Given the description of an element on the screen output the (x, y) to click on. 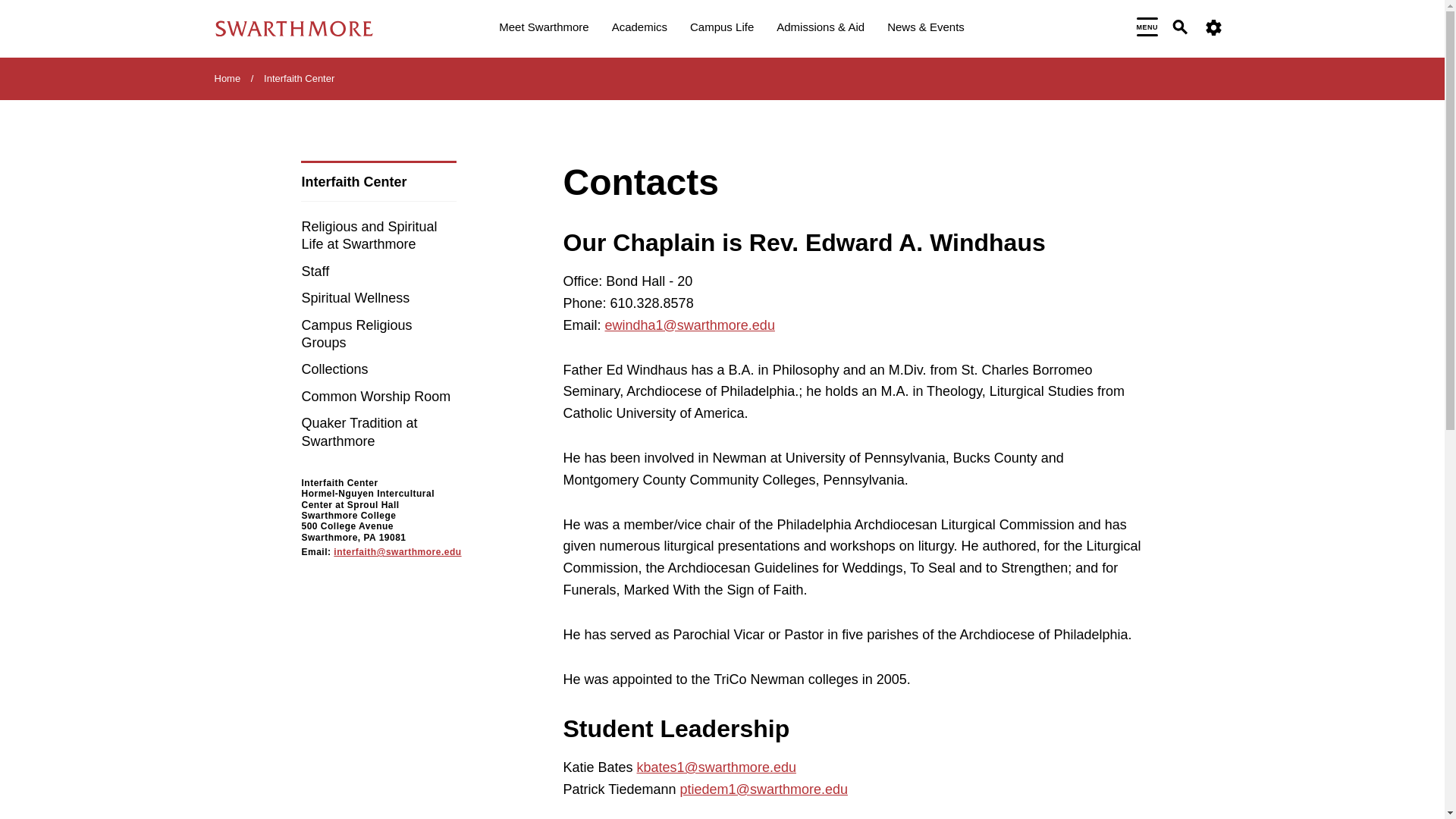
Meet Swarthmore (543, 28)
Opens Email Program (763, 789)
Opens Email Program (716, 767)
Academics (638, 28)
Campus Life (722, 28)
Opens Email Program (689, 324)
